Given the description of an element on the screen output the (x, y) to click on. 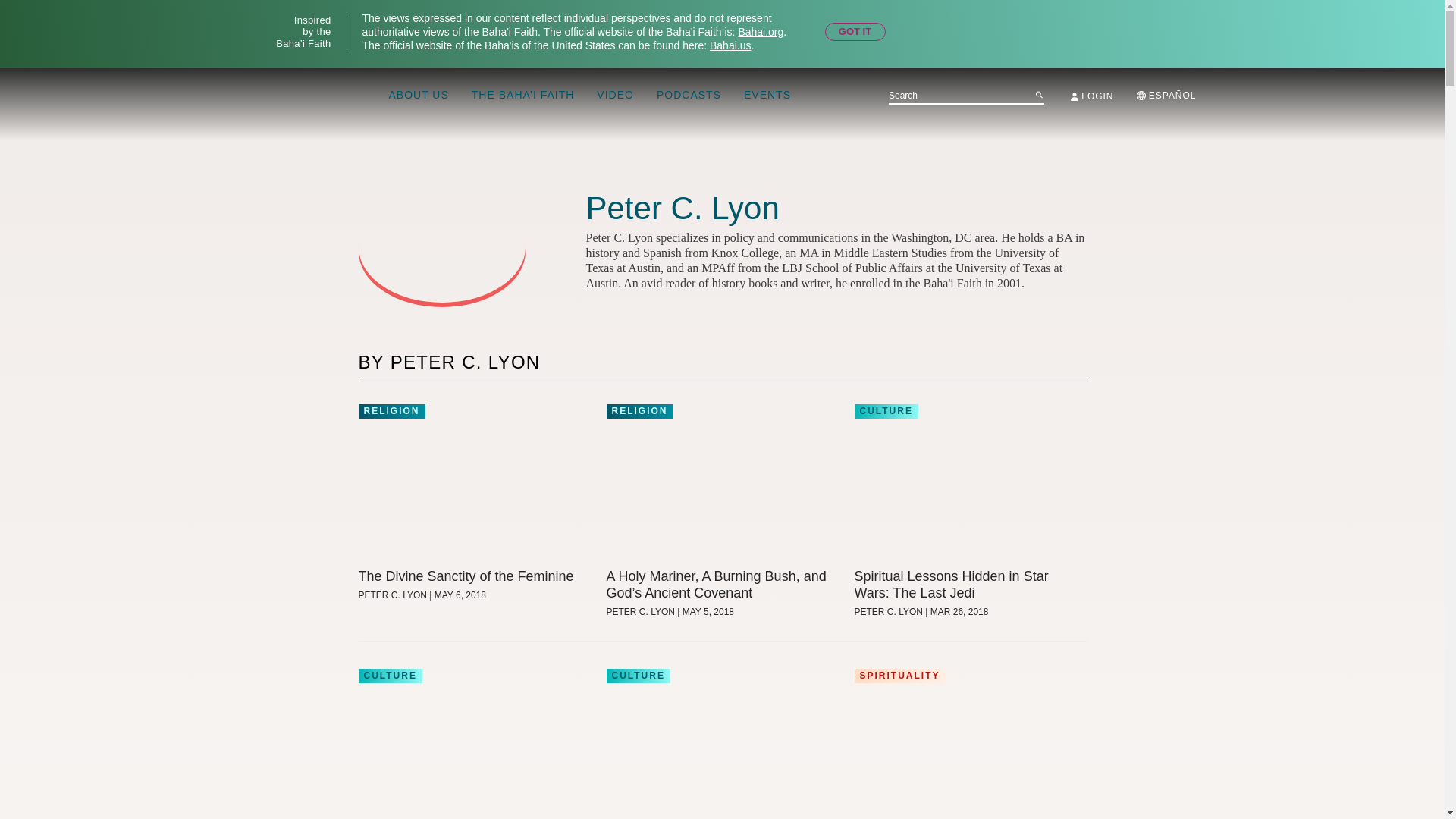
Spiritual Lessons Hidden in Star Wars: The Last Jedi (968, 584)
EVENTS (767, 96)
GOT IT (855, 31)
CULTURE (885, 410)
LOGIN (1092, 95)
VIDEO (614, 96)
RELIGION (639, 410)
SPIRITUALITY (898, 675)
Search for: (965, 95)
Bahai.org (760, 31)
